Given the description of an element on the screen output the (x, y) to click on. 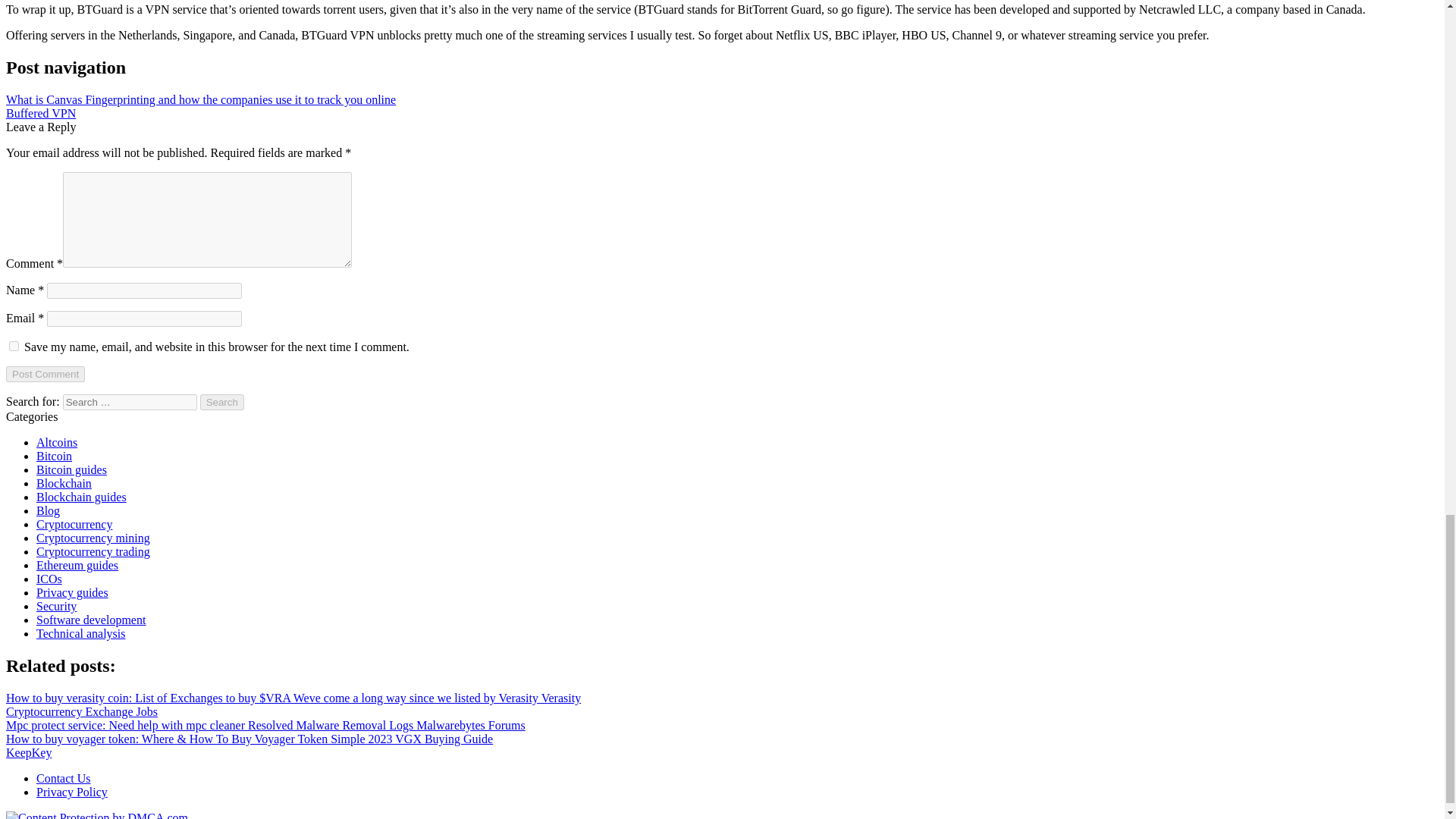
Bitcoin (53, 455)
Cryptocurrency (74, 523)
Buffered VPN (40, 113)
Post Comment (44, 374)
Search (222, 401)
Blog (47, 510)
Search (222, 401)
yes (13, 346)
ICOs (49, 578)
Privacy guides (71, 592)
KeepKey (27, 752)
Technical analysis (80, 633)
Ethereum guides (76, 564)
